Given the description of an element on the screen output the (x, y) to click on. 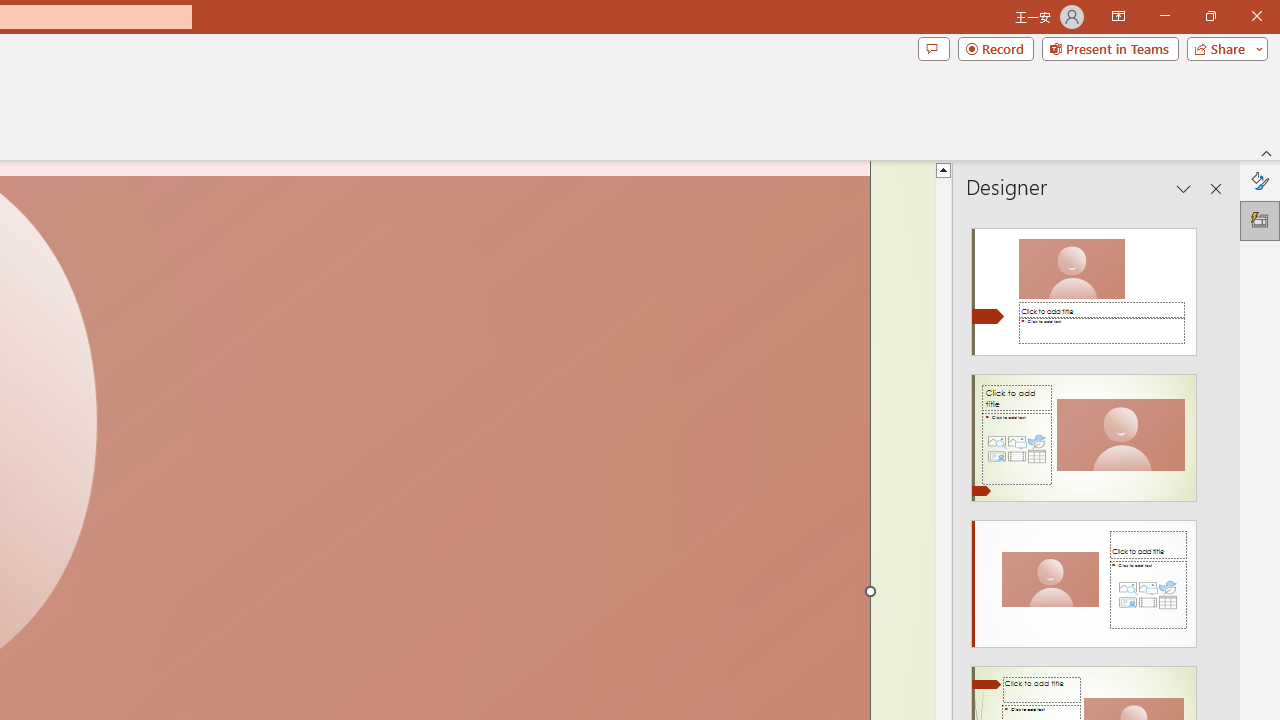
Format Background (1260, 180)
